Given the description of an element on the screen output the (x, y) to click on. 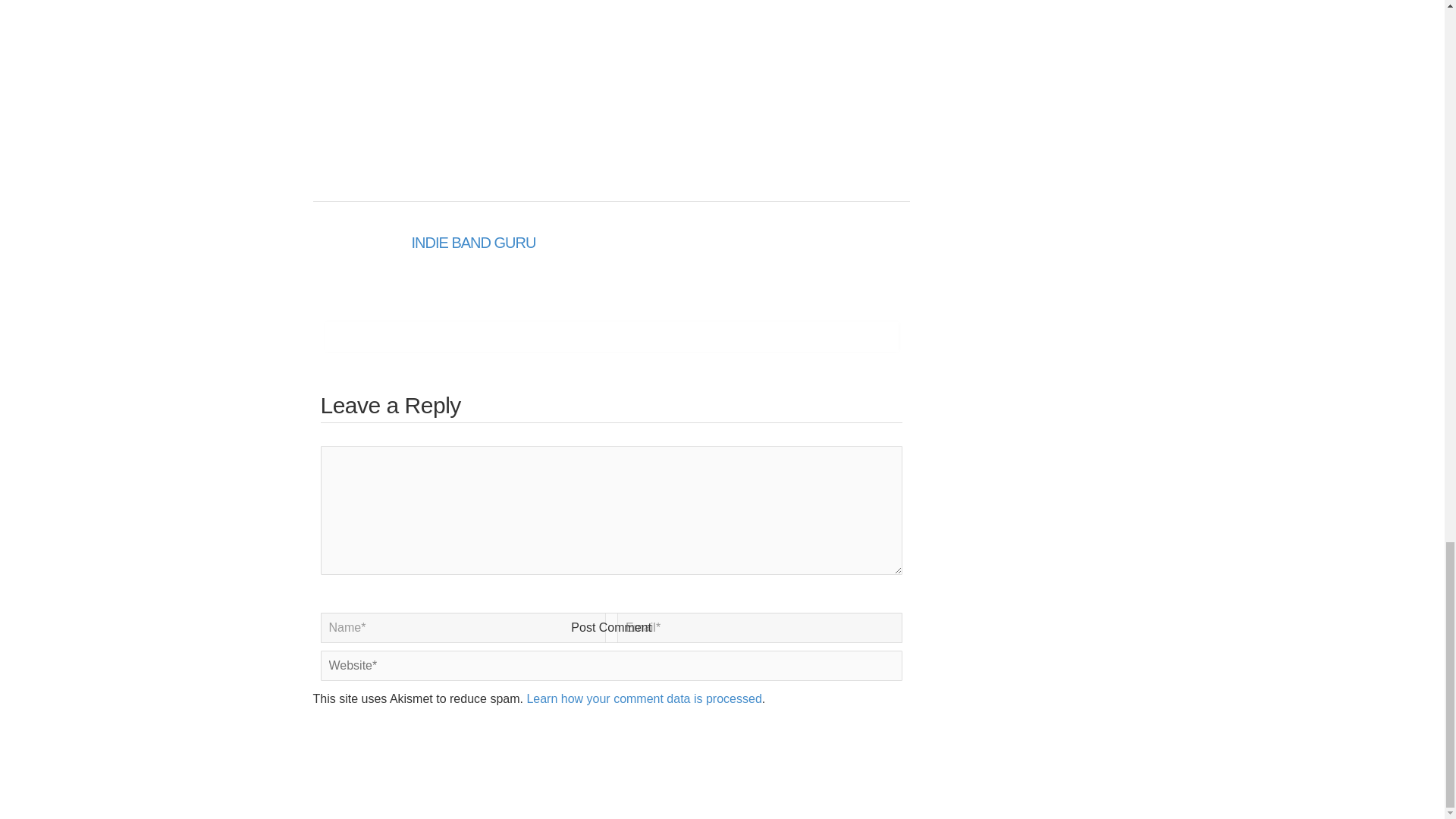
Post Comment (611, 627)
Post Comment (611, 627)
Learn how your comment data is processed (643, 698)
INDIE BAND GURU (472, 242)
